Given the description of an element on the screen output the (x, y) to click on. 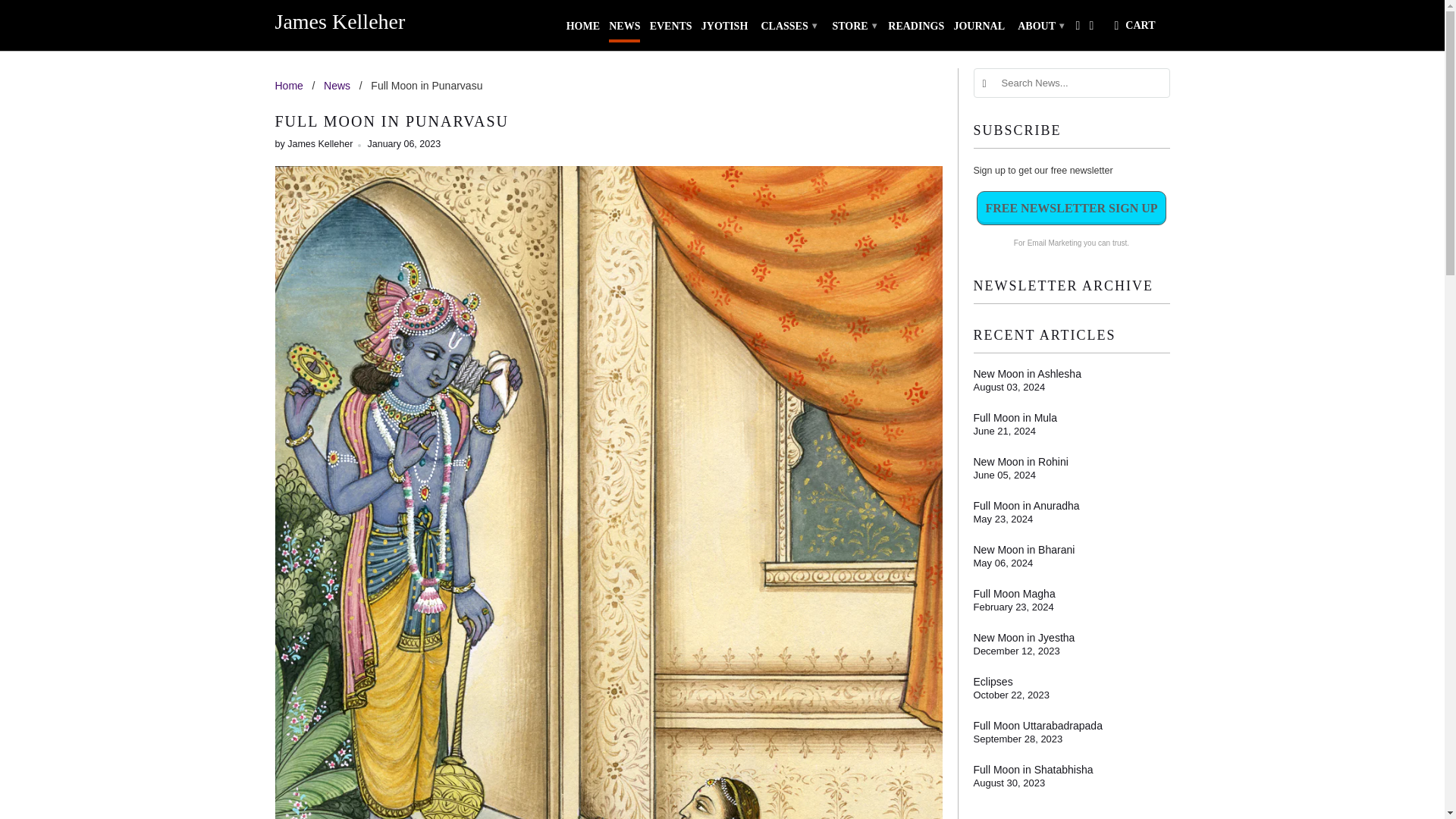
EVENTS (671, 29)
News (336, 85)
HOME (582, 29)
James Kelleher (288, 85)
NEWS (624, 29)
JYOTISH (724, 29)
James Kelleher (380, 21)
James Kelleher (380, 21)
